Given the description of an element on the screen output the (x, y) to click on. 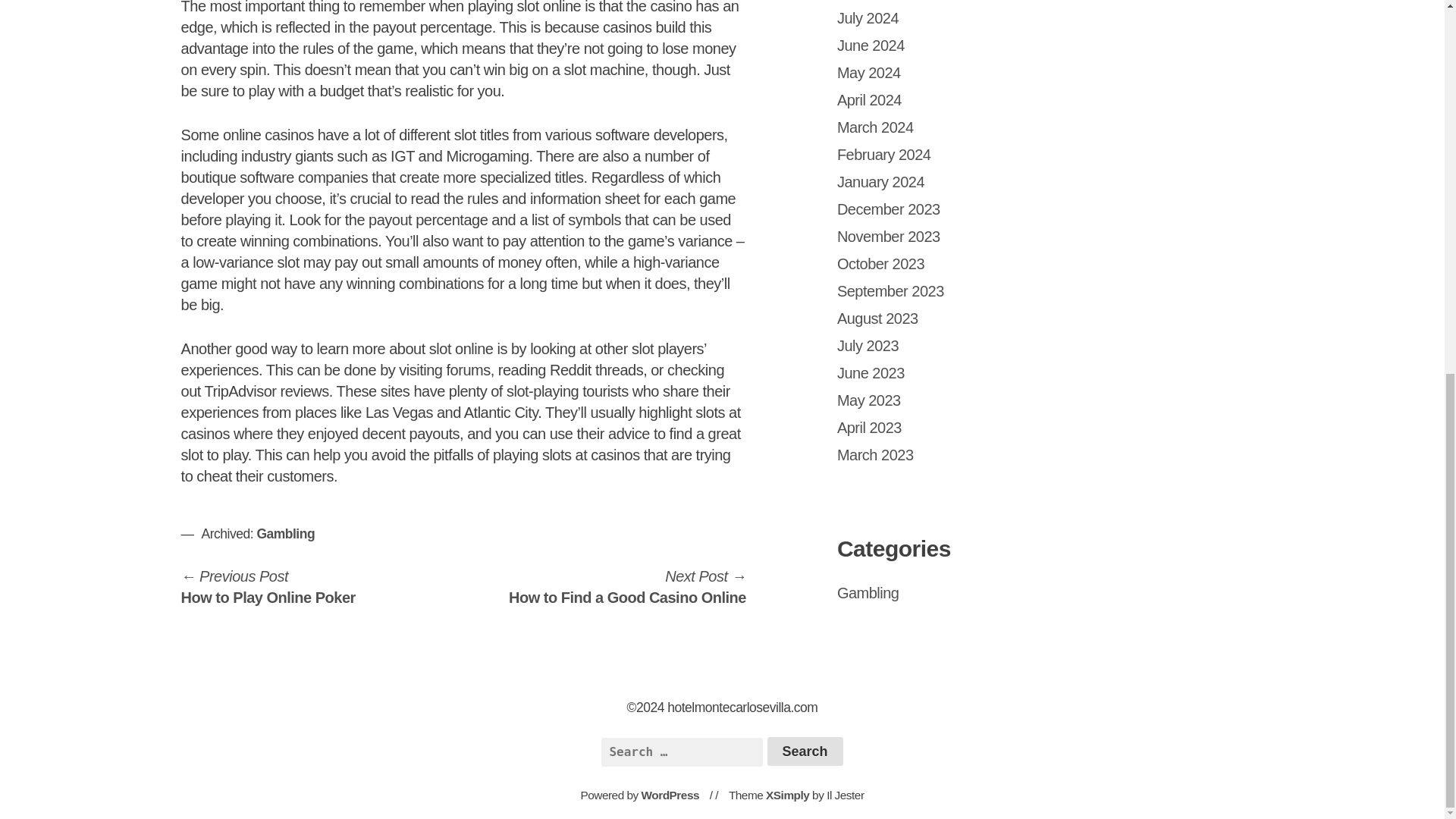
June 2023 (870, 372)
January 2024 (880, 181)
Gambling (285, 533)
July 2024 (626, 587)
December 2023 (867, 17)
May 2024 (888, 208)
May 2023 (869, 72)
February 2024 (869, 400)
Search (884, 154)
October 2023 (805, 751)
September 2023 (880, 263)
March 2023 (890, 290)
Search (875, 454)
August 2023 (805, 751)
